Given the description of an element on the screen output the (x, y) to click on. 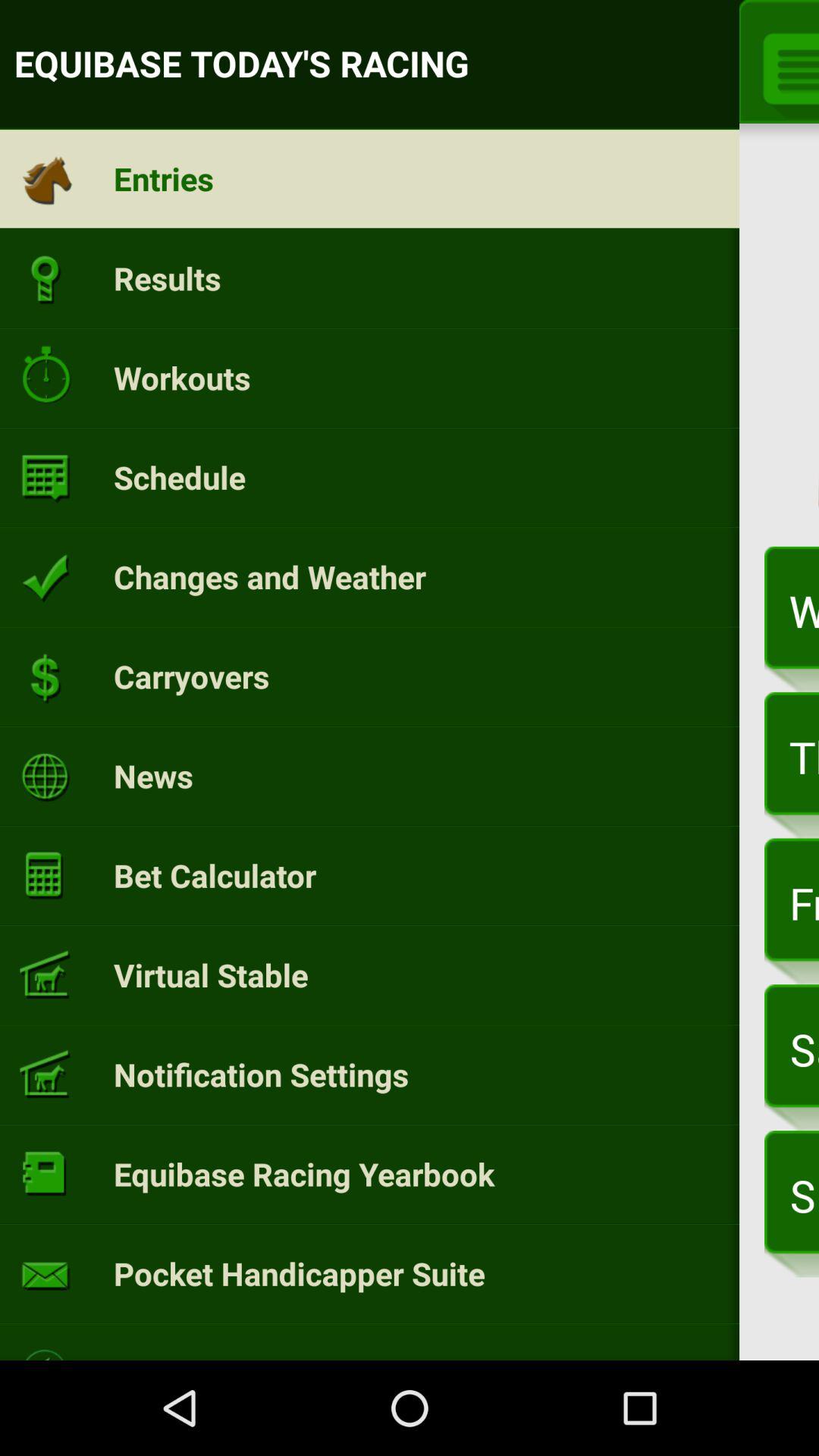
swipe to learn more icon (194, 1343)
